Given the description of an element on the screen output the (x, y) to click on. 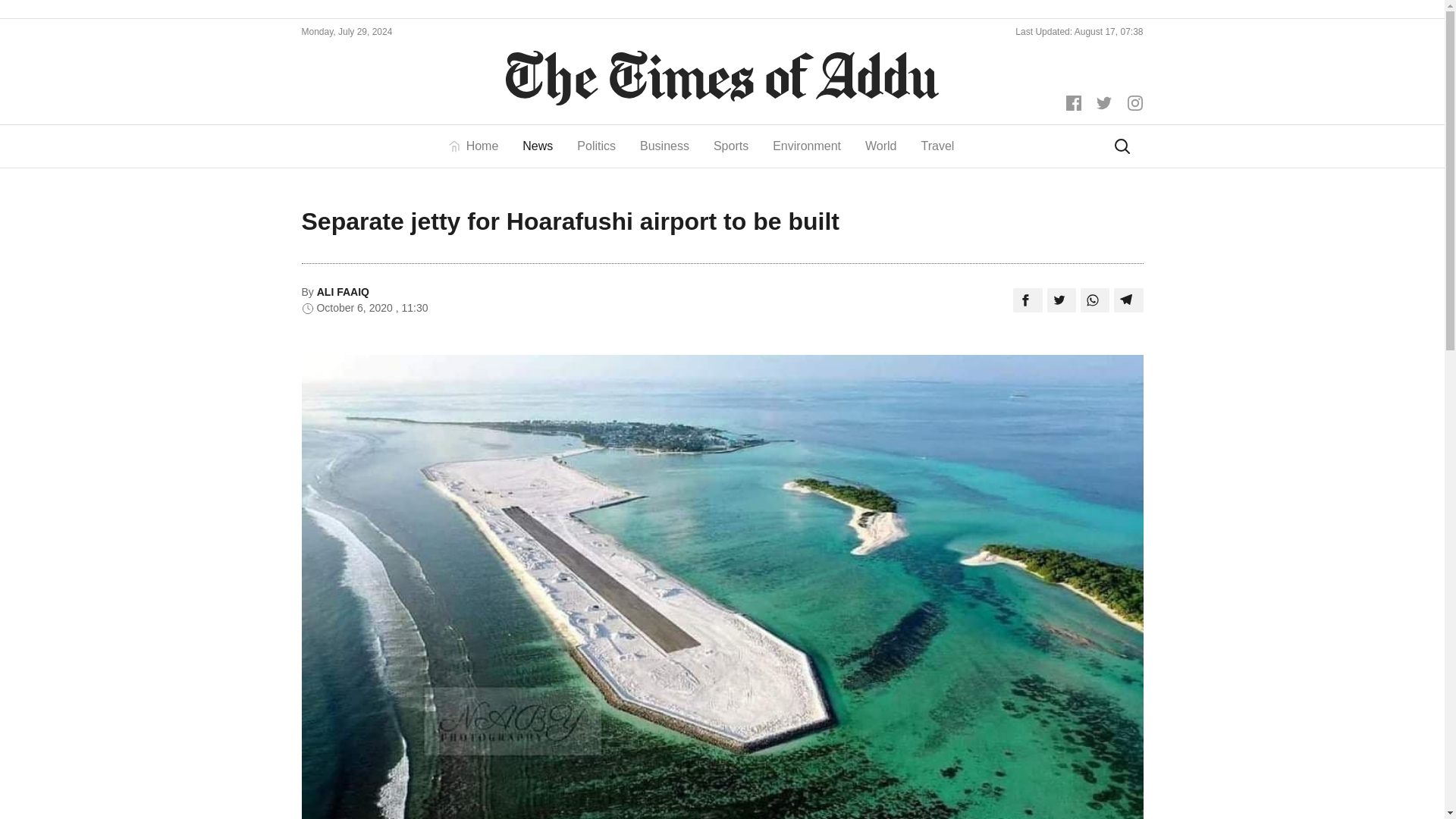
Twitter icon (1105, 101)
Sports (730, 146)
Environment (806, 146)
Facebook icon (1074, 101)
Sports (730, 146)
Home (479, 146)
Travel (937, 146)
Business (664, 146)
Business (664, 146)
Instagram icon (1133, 102)
Home (479, 146)
News (537, 146)
ALI FAAIQ (343, 291)
Politics (595, 146)
Travel (937, 146)
